Given the description of an element on the screen output the (x, y) to click on. 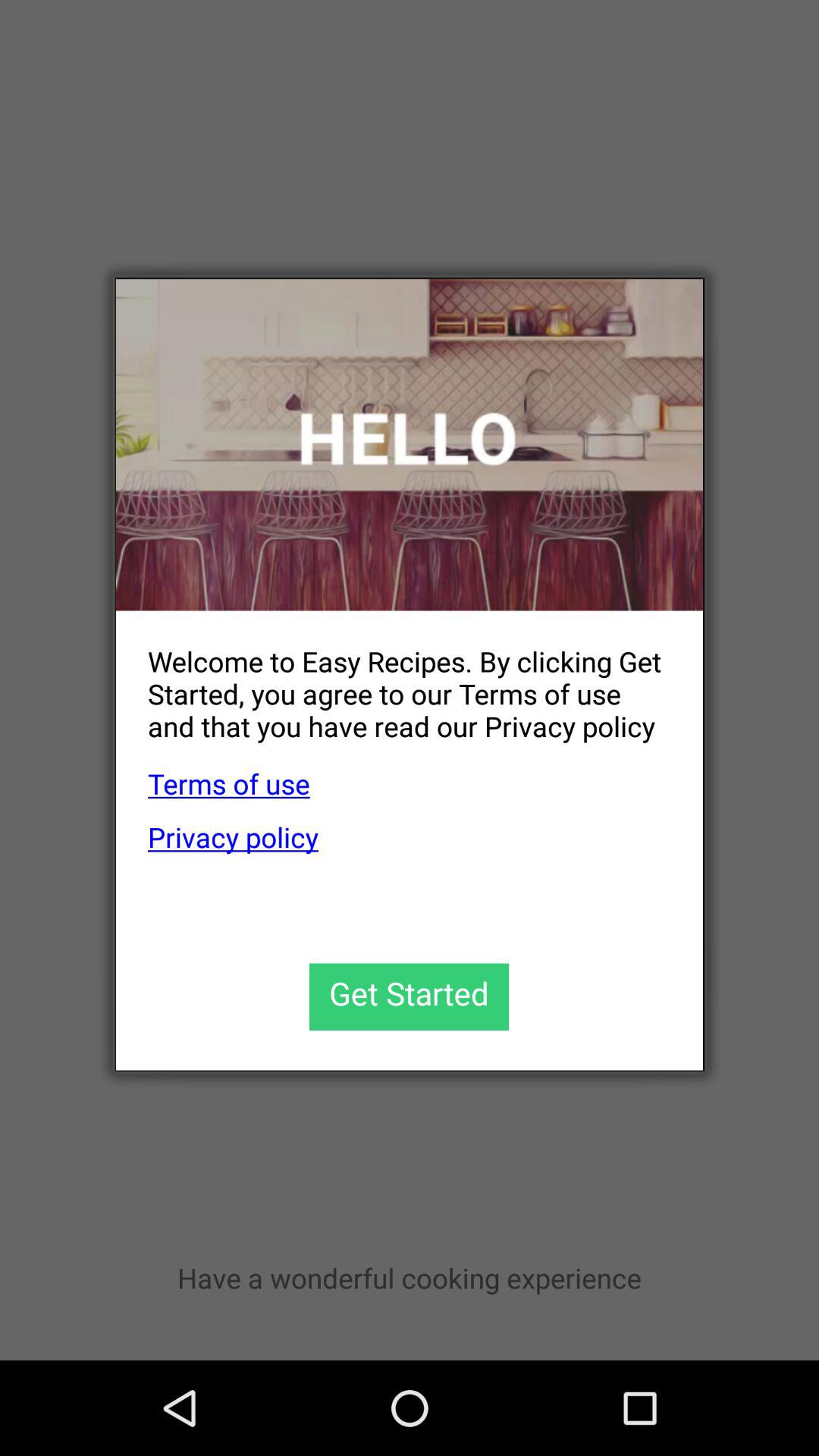
continue (409, 996)
